Given the description of an element on the screen output the (x, y) to click on. 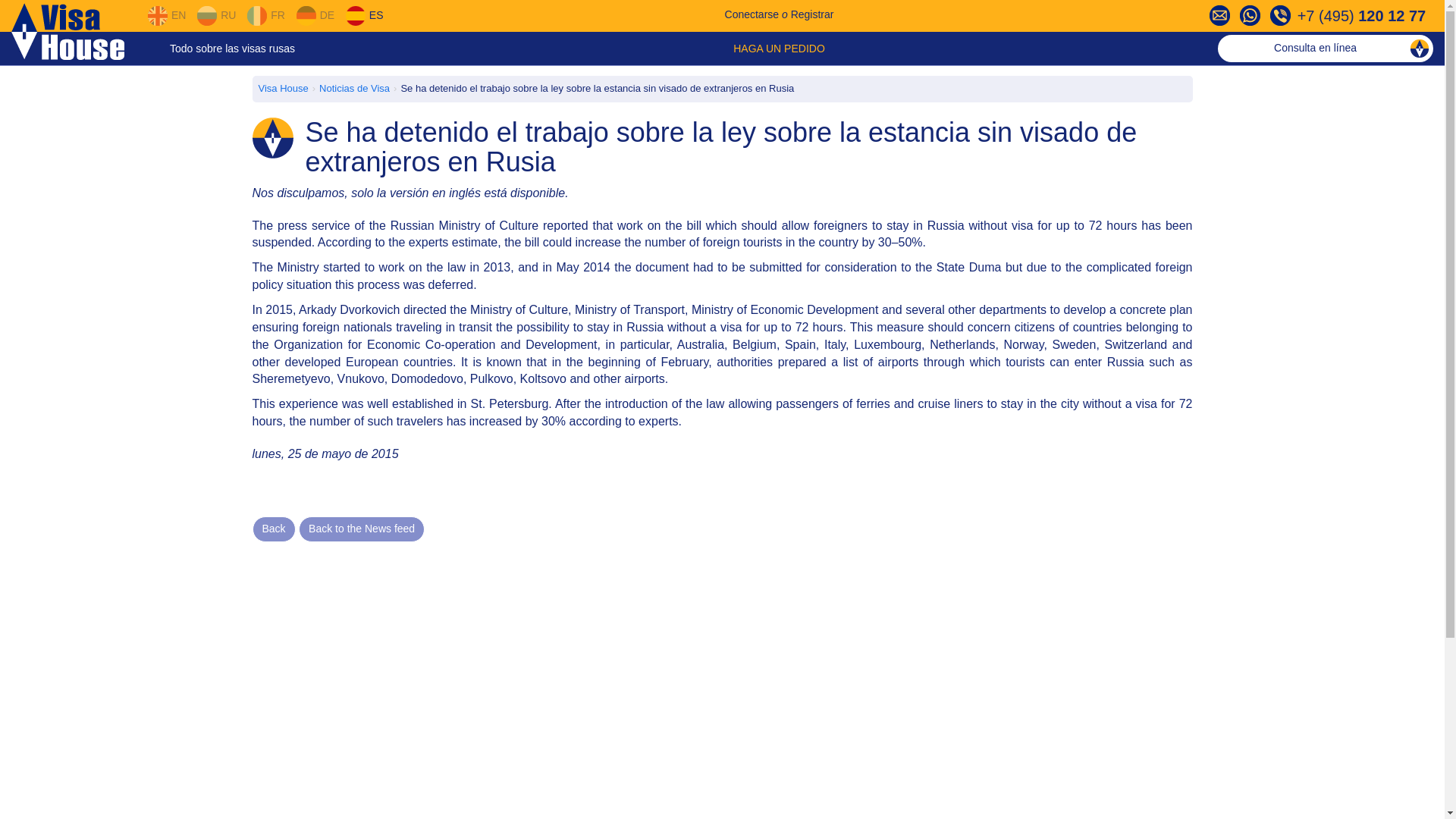
RU (215, 15)
EN (166, 15)
Conectarse (751, 14)
HAGA UN PEDIDO (779, 48)
FR (265, 15)
DE (314, 15)
Todo sobre las visas rusas (232, 48)
Registrar (812, 14)
ES (364, 15)
